Given the description of an element on the screen output the (x, y) to click on. 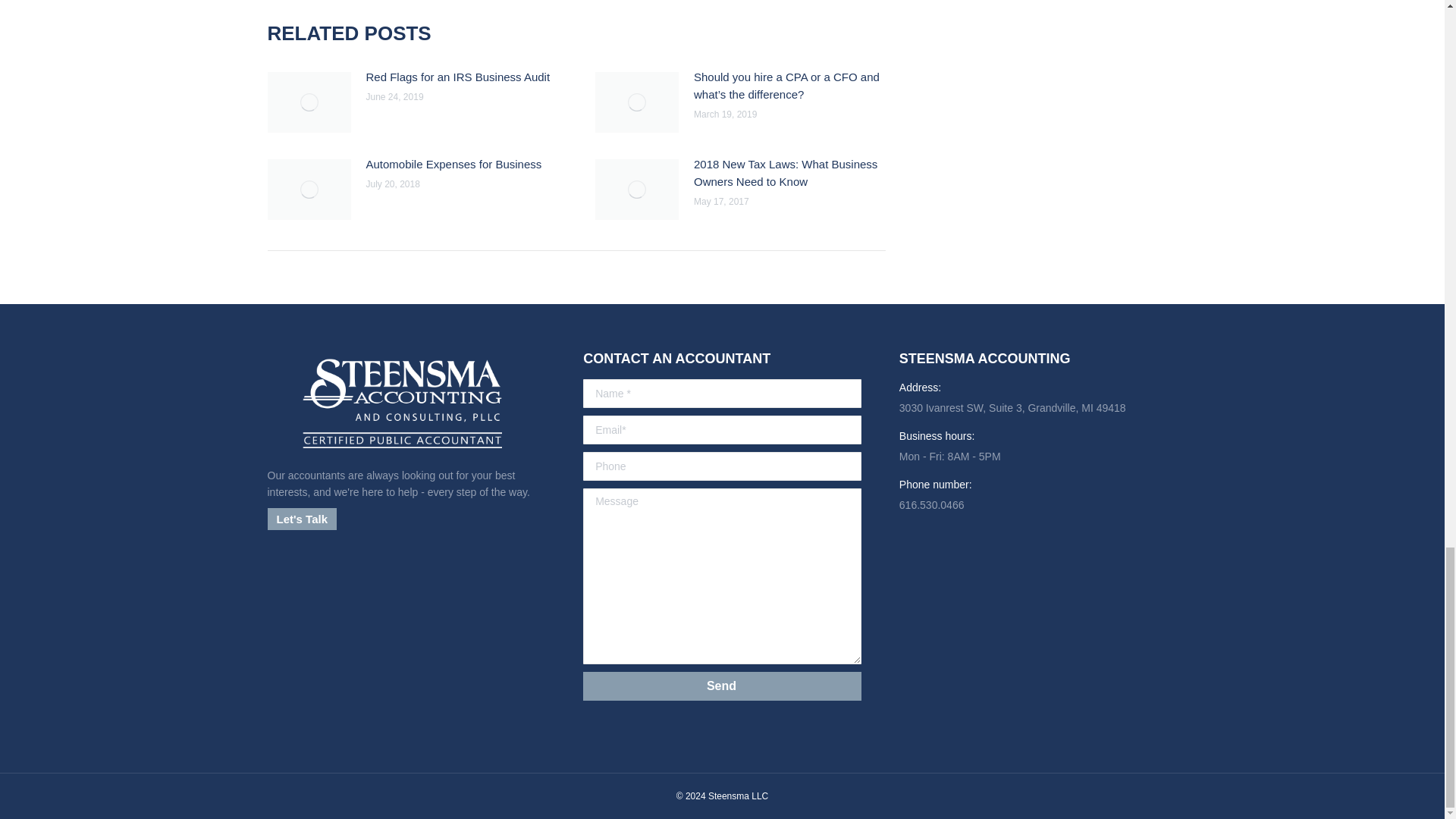
Send (722, 685)
